Given the description of an element on the screen output the (x, y) to click on. 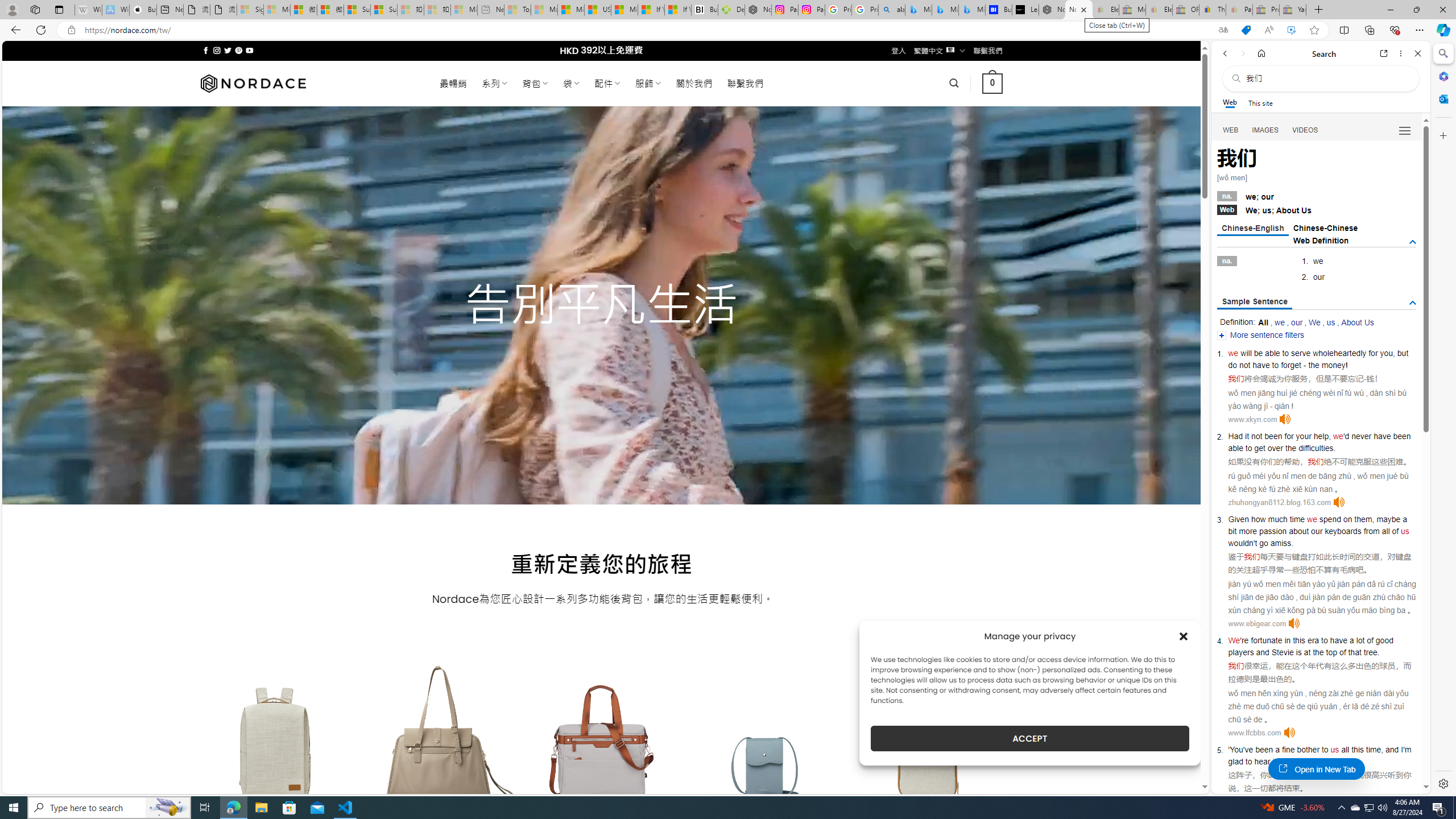
from (1371, 530)
going (1294, 760)
Click to listen (1289, 732)
a bit (1316, 524)
money (1332, 364)
us (1334, 749)
! (1346, 364)
